Given the description of an element on the screen output the (x, y) to click on. 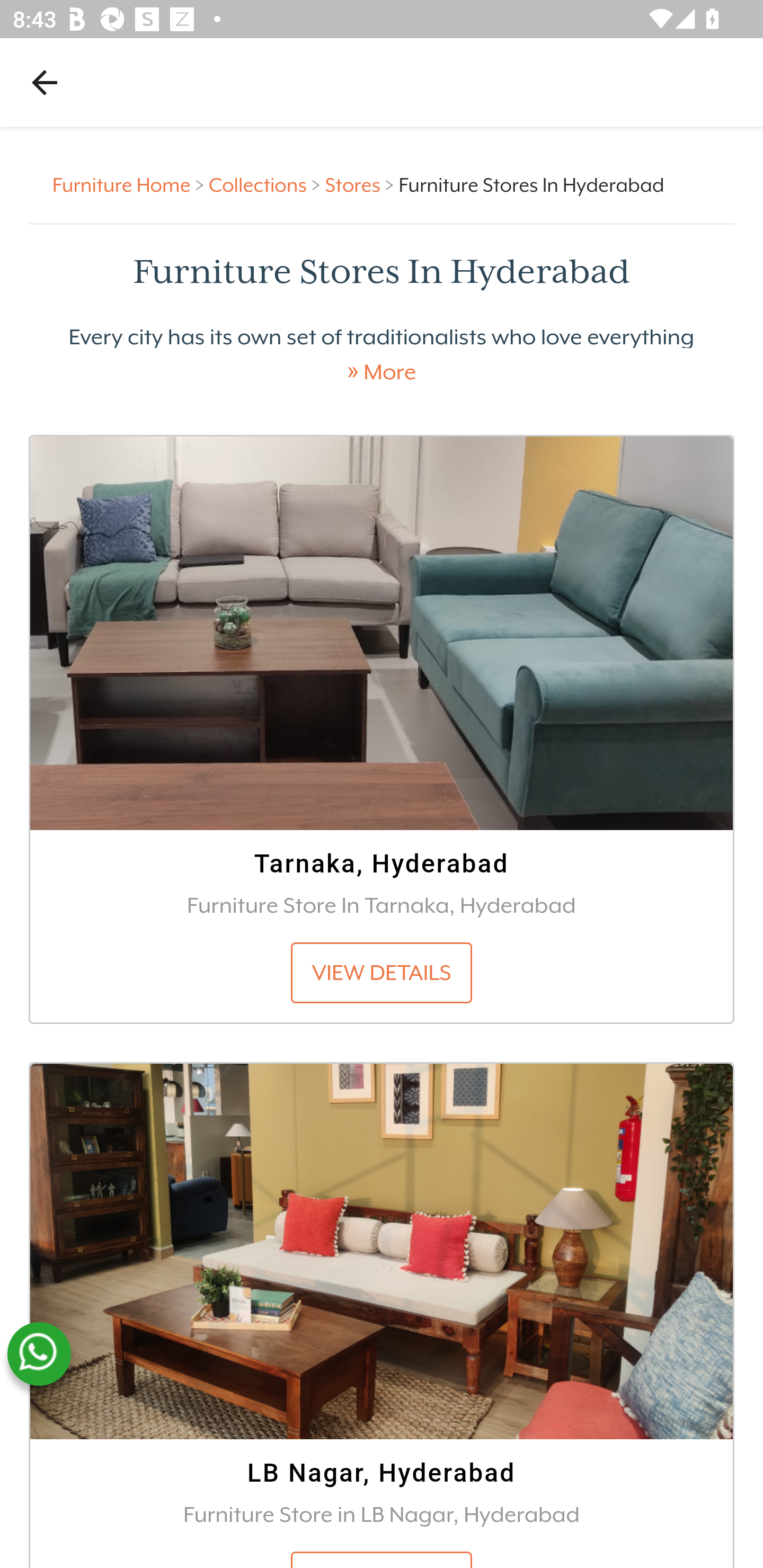
Navigate up (44, 82)
Furniture Home >  Furniture Home  >  (130, 184)
Collections >  Collections  >  (266, 184)
Stores >  Stores  >  (361, 184)
» More (381, 372)
VIEW DETAILS (381, 973)
whatsapp (38, 1353)
